Given the description of an element on the screen output the (x, y) to click on. 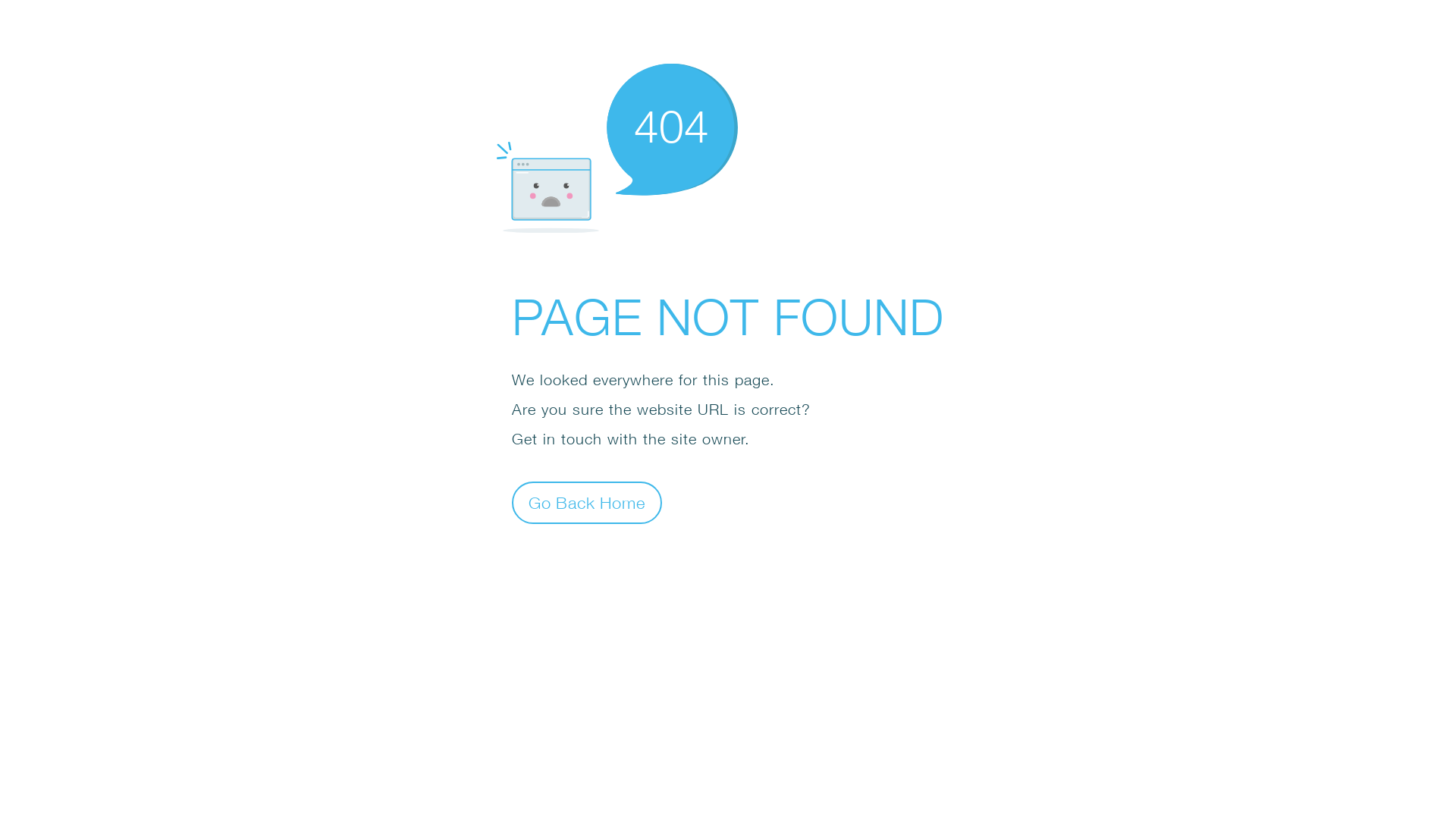
Go Back Home Element type: text (586, 502)
